Given the description of an element on the screen output the (x, y) to click on. 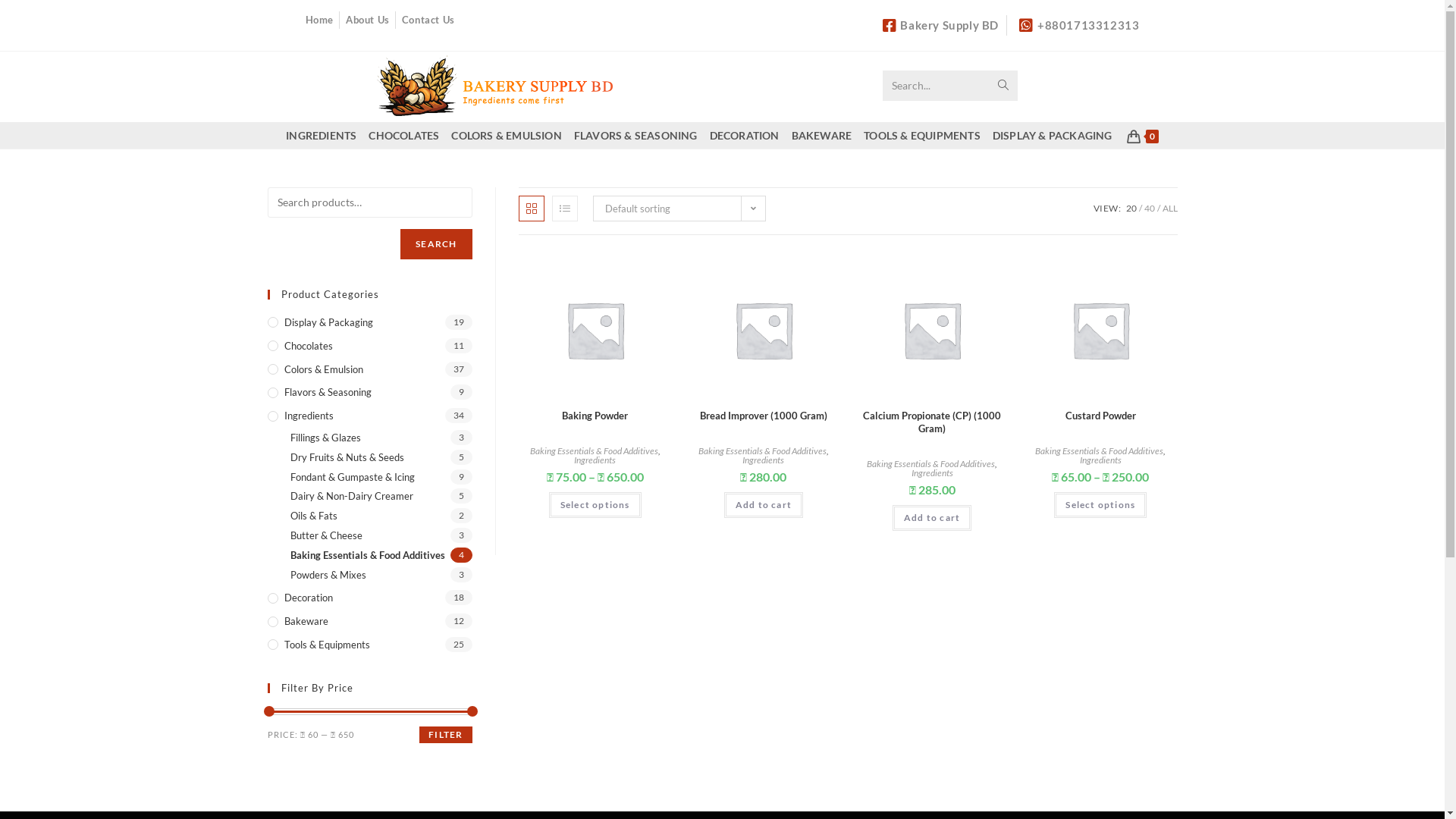
Flavors & Seasoning Element type: text (368, 392)
Ingredients Element type: text (368, 415)
Select options Element type: text (595, 504)
DECORATION Element type: text (744, 135)
Tools & Equipments Element type: text (368, 644)
SEARCH Element type: text (435, 244)
Ingredients Element type: text (932, 472)
Select options Element type: text (1100, 504)
40 Element type: text (1148, 207)
Butter & Cheese Element type: text (380, 535)
Bakery Supply BD Element type: text (937, 25)
FILTER Element type: text (445, 734)
Oils & Fats Element type: text (380, 516)
Bakeware Element type: text (368, 621)
Ingredients Element type: text (763, 459)
Dry Fruits & Nuts & Seeds Element type: text (380, 457)
Colors & Emulsion Element type: text (368, 369)
Fillings & Glazes Element type: text (380, 437)
Grid view Element type: hover (531, 208)
INGREDIENTS Element type: text (320, 135)
Calcium Propionate (CP) (1000 Gram) Element type: text (931, 422)
Bread Improver (1000 Gram) Element type: text (763, 415)
Add to cart Element type: text (763, 504)
Custard Powder Element type: text (1100, 415)
0 Element type: text (1142, 135)
Baking Essentials & Food Additives Element type: text (594, 450)
20 Element type: text (1130, 207)
Ingredients Element type: text (594, 459)
About Us Element type: text (367, 19)
Dairy & Non-Dairy Creamer Element type: text (380, 496)
Baking Essentials & Food Additives Element type: text (1099, 450)
FLAVORS & SEASONING Element type: text (635, 135)
Home Element type: text (318, 19)
Display & Packaging Element type: text (368, 322)
BAKEWARE Element type: text (821, 135)
Chocolates Element type: text (368, 346)
+8801713312313 Element type: text (1076, 25)
CHOCOLATES Element type: text (403, 135)
TOOLS & EQUIPMENTS Element type: text (921, 135)
DISPLAY & PACKAGING Element type: text (1052, 135)
Ingredients Element type: text (1100, 459)
Baking Essentials & Food Additives Element type: text (762, 450)
Baking Essentials & Food Additives Element type: text (380, 555)
List view Element type: hover (564, 208)
ALL Element type: text (1168, 207)
Baking Essentials & Food Additives Element type: text (930, 463)
Fondant & Gumpaste & Icing Element type: text (380, 477)
COLORS & EMULSION Element type: text (506, 135)
Powders & Mixes Element type: text (380, 575)
Add to cart Element type: text (931, 517)
Baking Powder Element type: text (594, 415)
Contact Us Element type: text (428, 19)
Decoration Element type: text (368, 597)
